Given the description of an element on the screen output the (x, y) to click on. 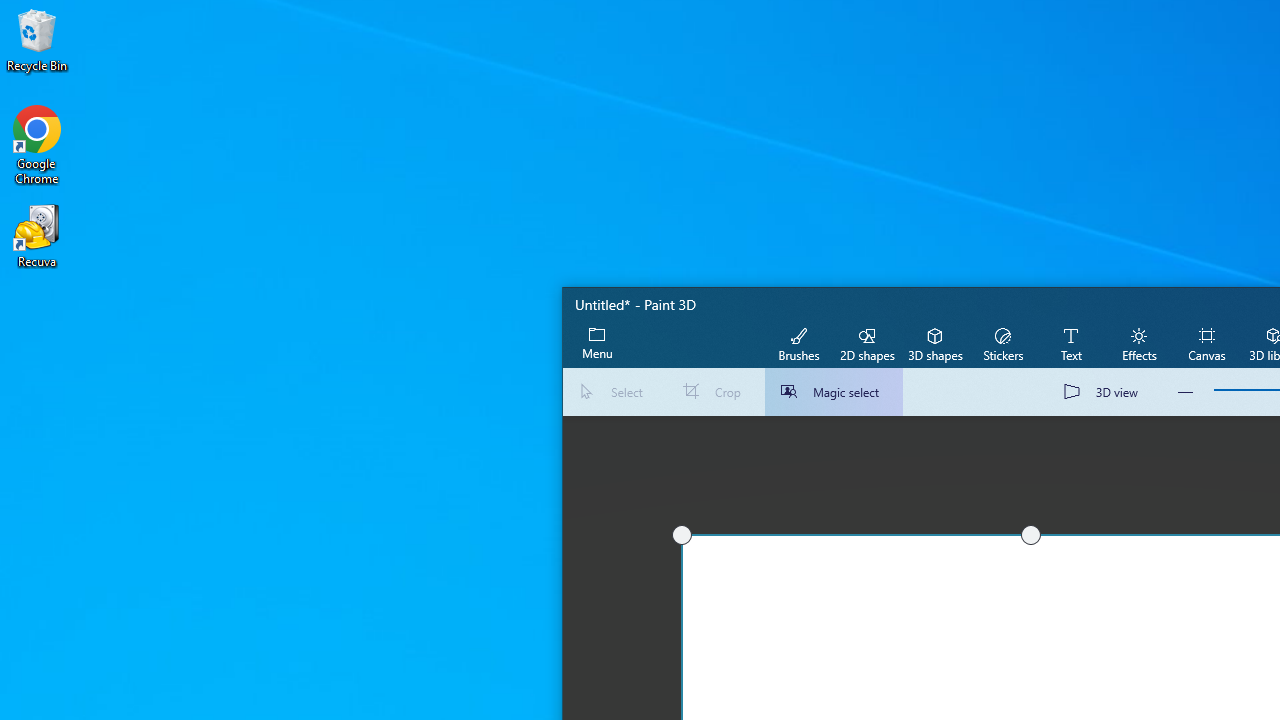
3D view (1105, 391)
3D shapes (934, 343)
Zoom out (1185, 391)
Expand menu (597, 343)
Effects (1138, 343)
Magic select (833, 391)
Text (1070, 343)
Crop (715, 391)
Select (614, 391)
2D shapes (867, 343)
Brushes (799, 343)
Canvas (1206, 343)
Stickers (1002, 343)
